Given the description of an element on the screen output the (x, y) to click on. 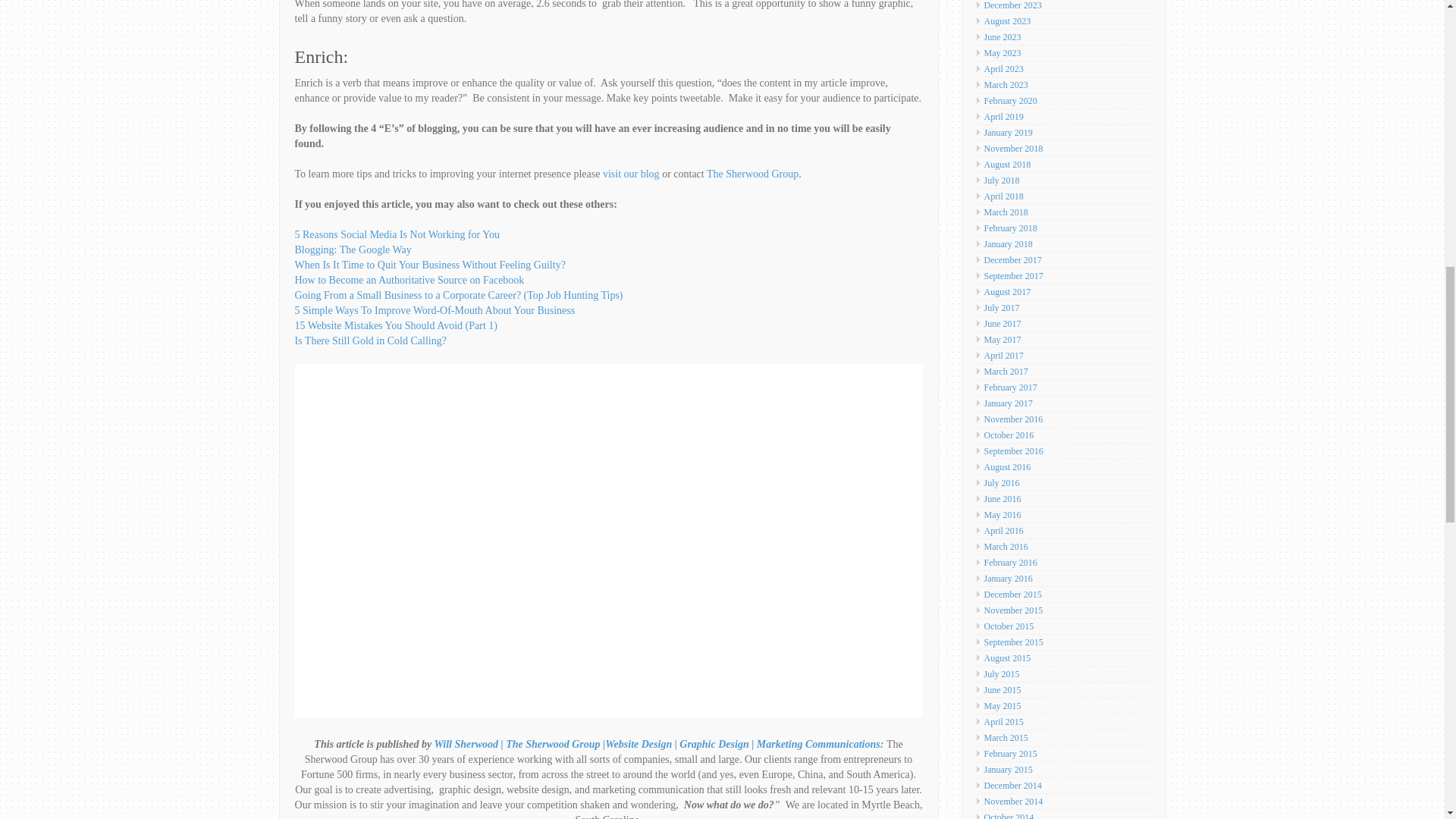
5 Reasons Social Media Is Not Working for You (396, 234)
visit our blog (630, 173)
The Sherwood Group (751, 173)
